Given the description of an element on the screen output the (x, y) to click on. 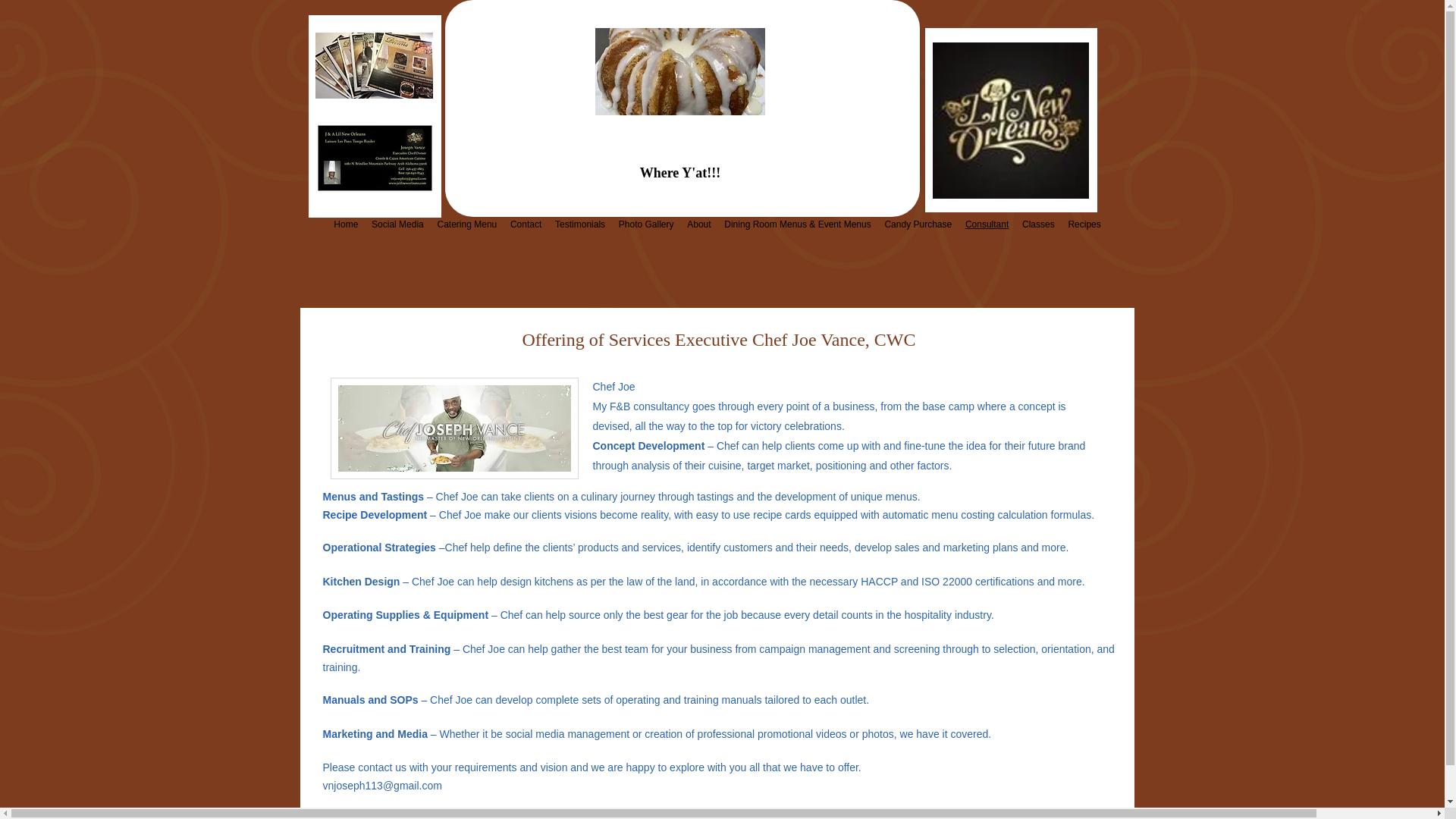
Social Media (397, 223)
Home (346, 223)
Recipes (1084, 223)
Candy Purchase (917, 223)
Consultant (986, 223)
About (698, 223)
Catering Menu (466, 223)
Photo Gallery (645, 223)
Testimonials (579, 223)
Contact (525, 223)
Classes (1037, 223)
